Given the description of an element on the screen output the (x, y) to click on. 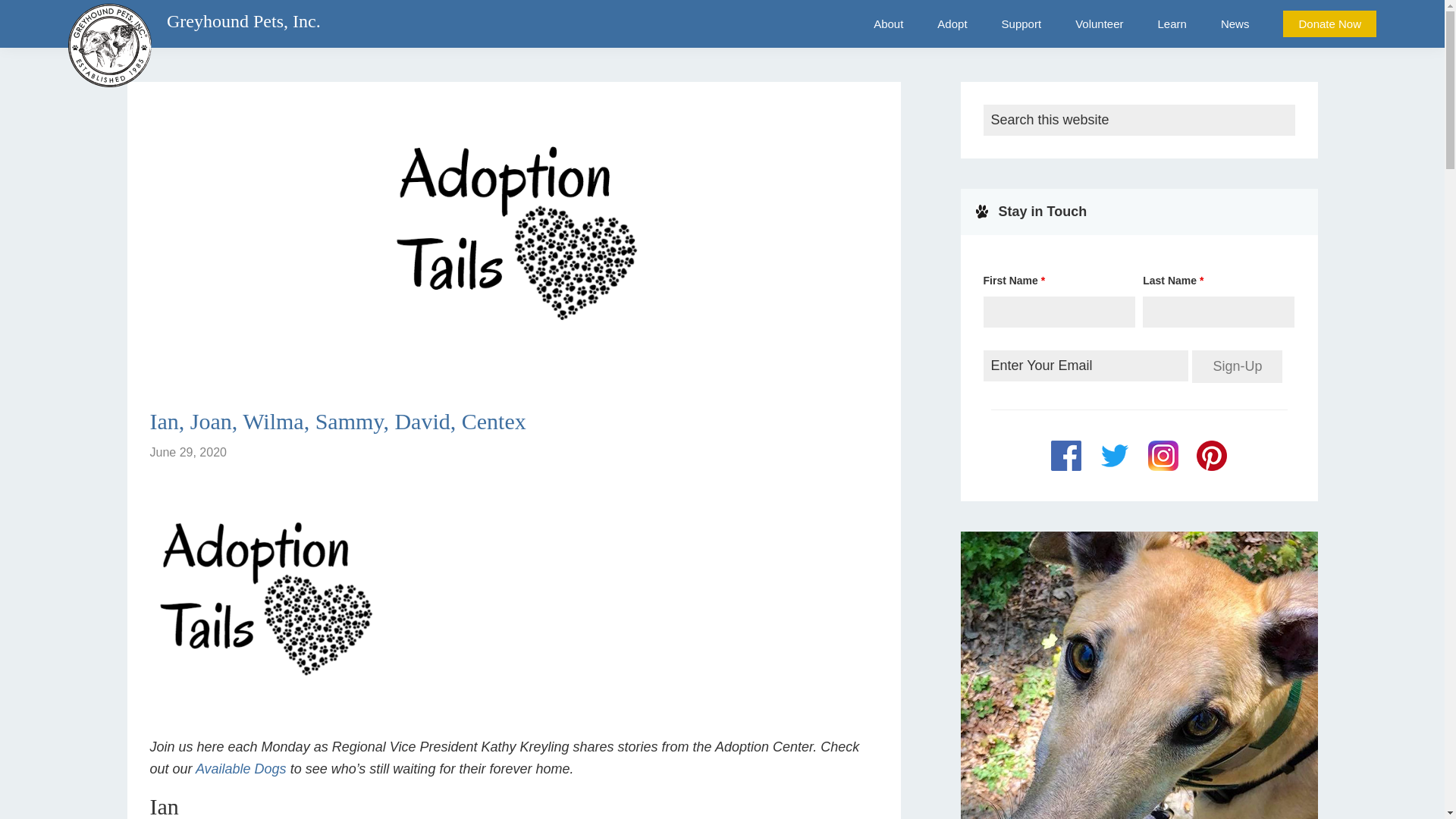
About (888, 23)
Adopt (951, 23)
News (1235, 23)
Greyhound Pets, Inc. (243, 21)
Learn (1172, 23)
Volunteer (1098, 23)
Sign-Up (1237, 366)
Greyhound Pets, Inc. (108, 109)
Support (1022, 23)
